Given the description of an element on the screen output the (x, y) to click on. 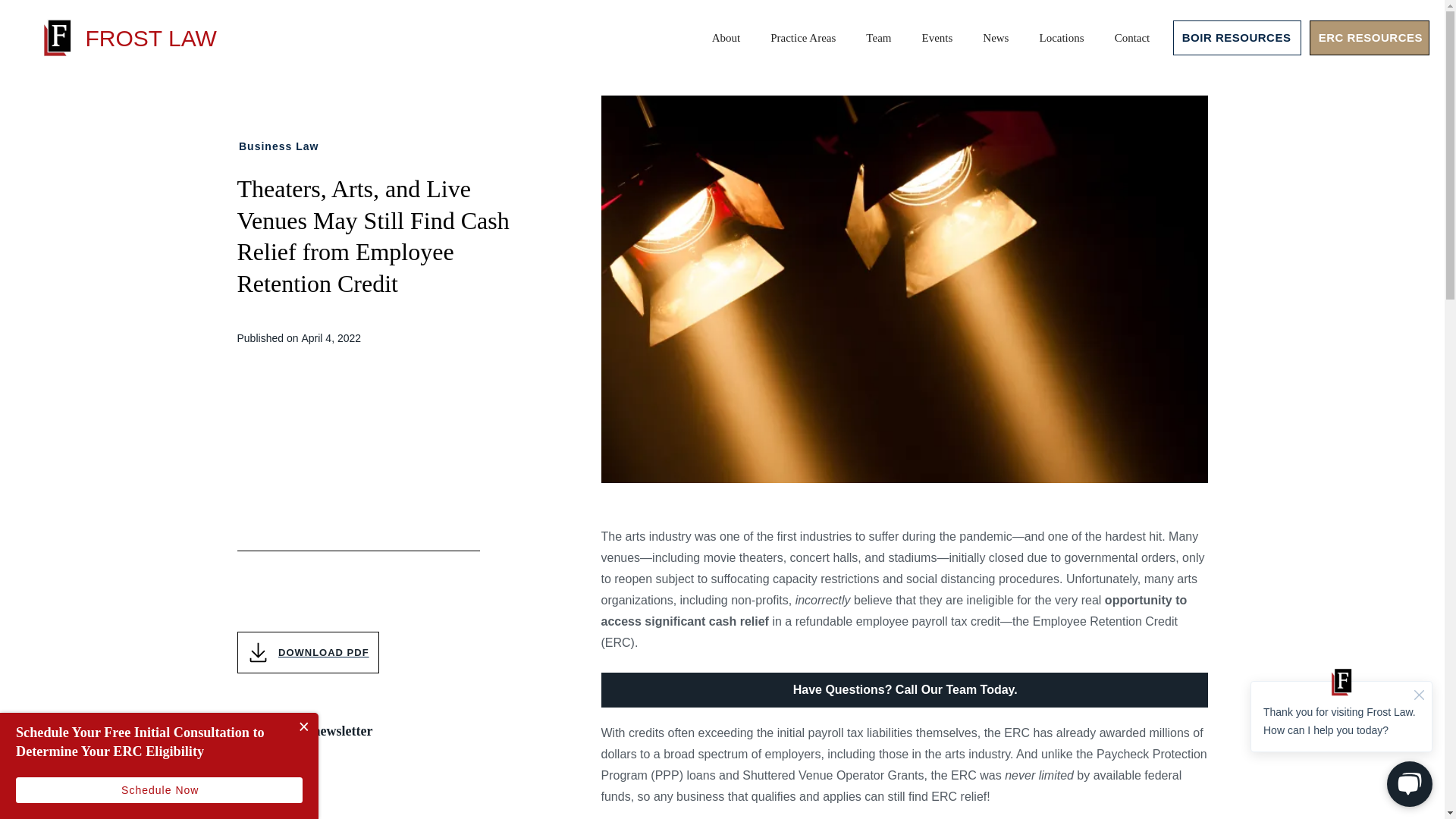
Contact (1132, 37)
Form 0 (357, 788)
DOWNLOAD PDF (306, 652)
About (726, 37)
ERC RESOURCES (1368, 37)
FROST LAW (126, 37)
All news (268, 104)
News (995, 37)
Events (936, 37)
Team (877, 37)
BOIR RESOURCES  (1237, 37)
Business Law (279, 146)
Locations (1061, 37)
Have Questions? Call Our Team Today. (903, 689)
Practice Areas (802, 37)
